Given the description of an element on the screen output the (x, y) to click on. 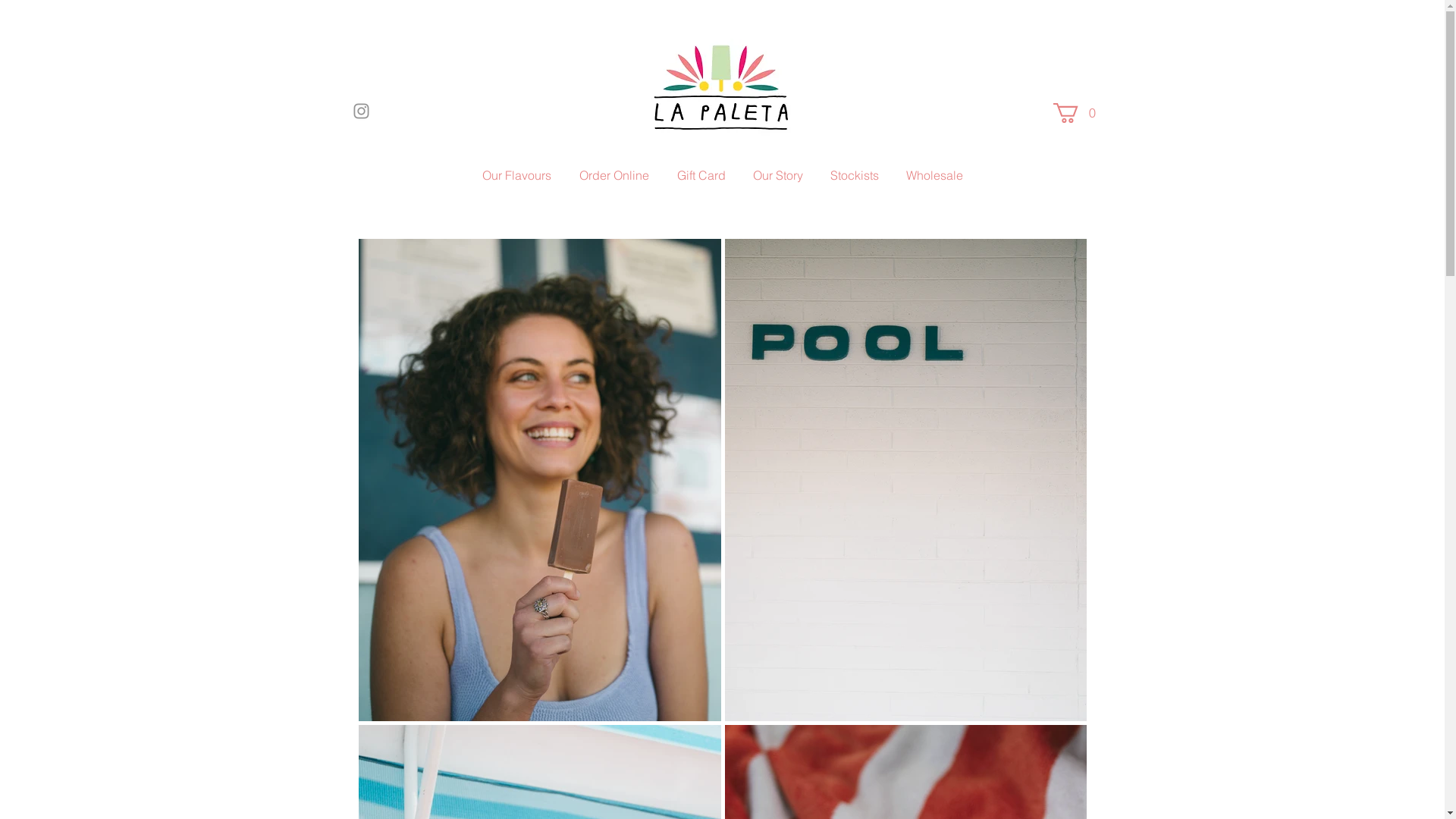
Our Story Element type: text (778, 175)
Stockists Element type: text (854, 175)
Wholesale Element type: text (934, 175)
Our Flavours Element type: text (516, 175)
Gift Card Element type: text (700, 175)
0 Element type: text (1076, 112)
Order Online Element type: text (613, 175)
